Given the description of an element on the screen output the (x, y) to click on. 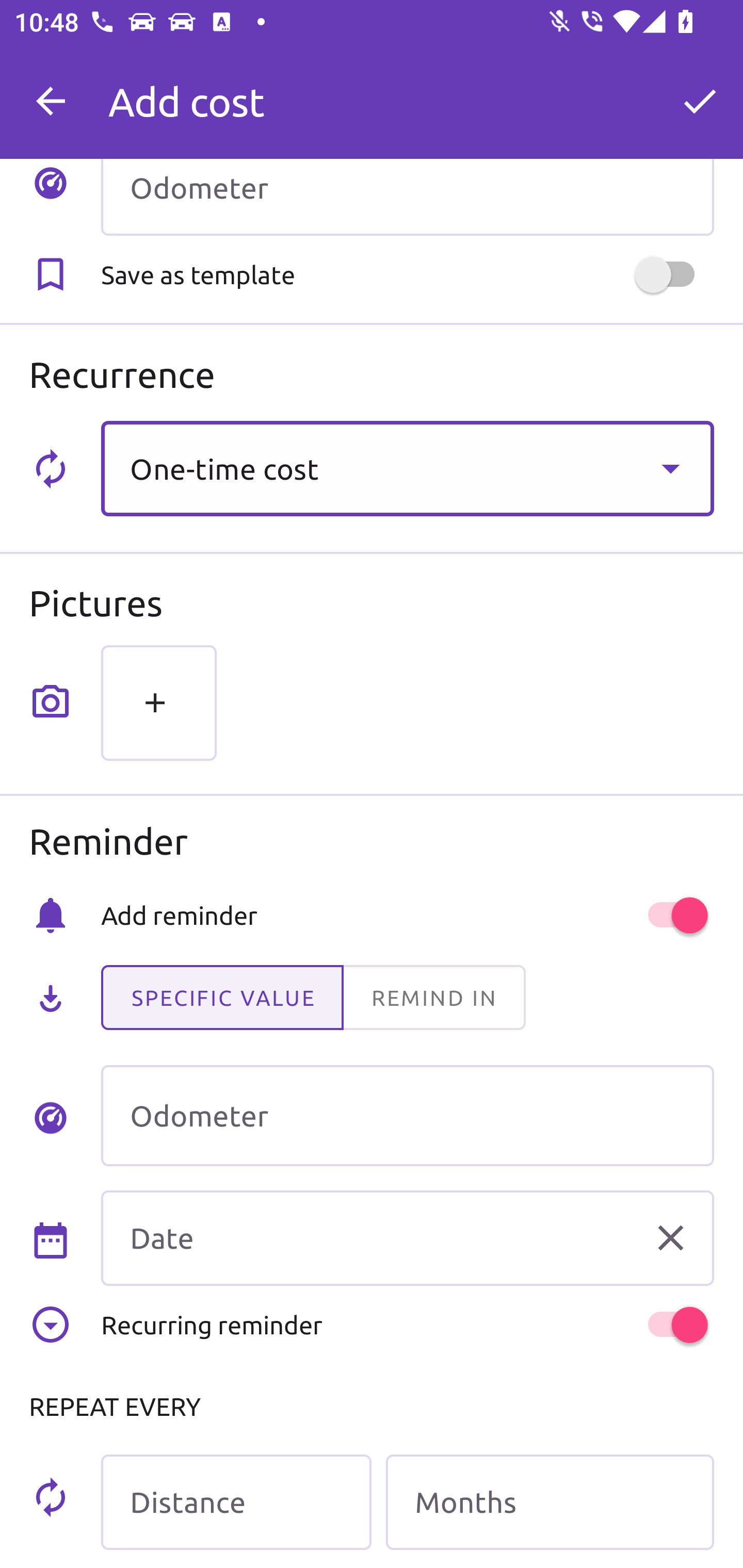
M My Car 0 km (407, 92)
Navigate up (50, 101)
OK (699, 101)
Odometer (407, 196)
Save as template (407, 274)
One-time cost (407, 467)
Show dropdown menu (670, 467)
Add reminder (407, 914)
SPECIFIC VALUE (222, 997)
REMIND IN (433, 997)
Odometer (407, 1115)
Date (407, 1237)
Delete (670, 1237)
Recurring reminder (407, 1324)
Distance (236, 1502)
Months (549, 1502)
